Given the description of an element on the screen output the (x, y) to click on. 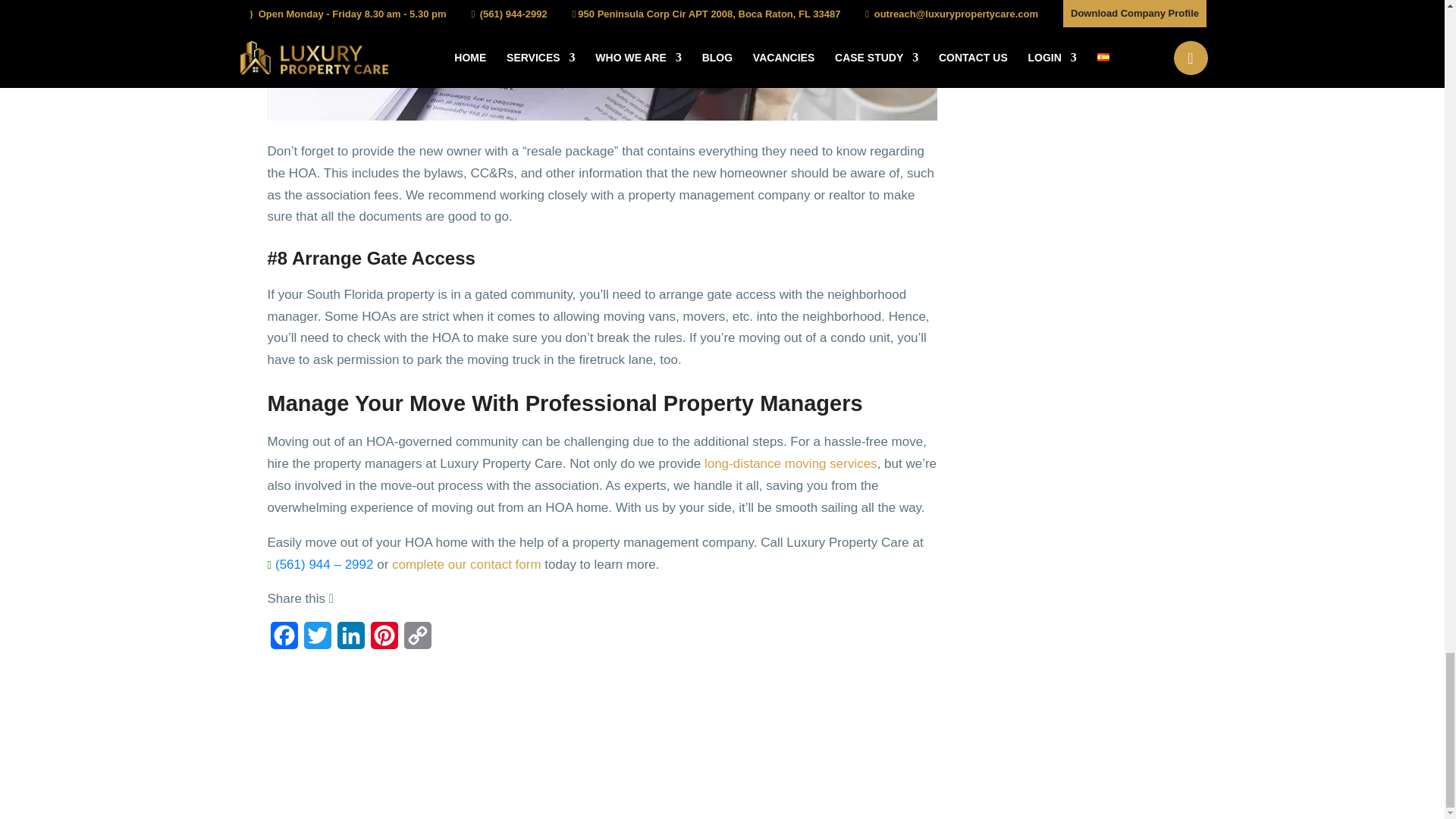
Pinterest (383, 640)
Facebook (282, 640)
Copy Link (416, 640)
Twitter (316, 640)
LinkedIn (349, 640)
